Given the description of an element on the screen output the (x, y) to click on. 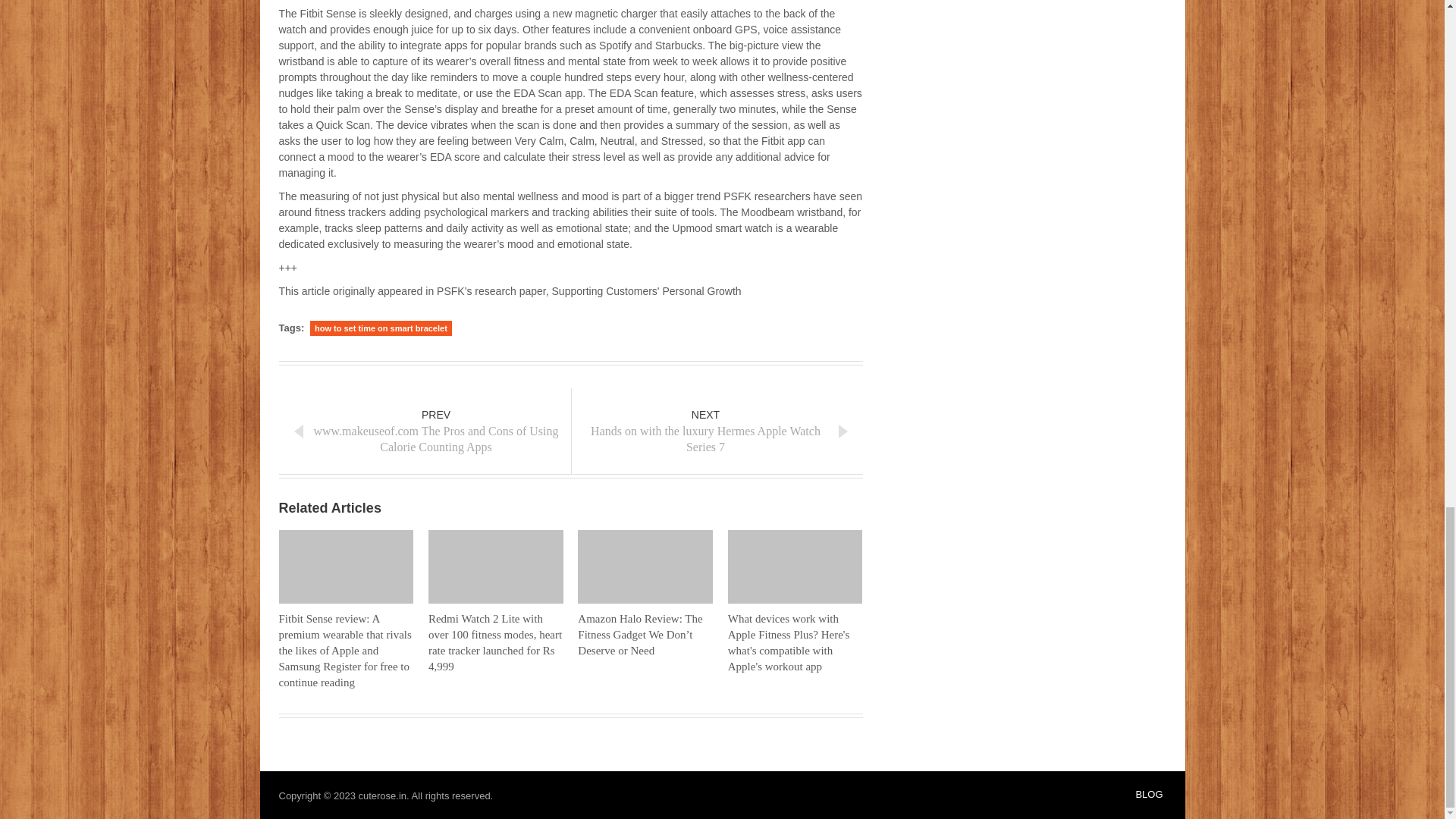
Hands on with the luxury Hermes Apple Watch Series 7 (715, 431)
BLOG (715, 431)
